Given the description of an element on the screen output the (x, y) to click on. 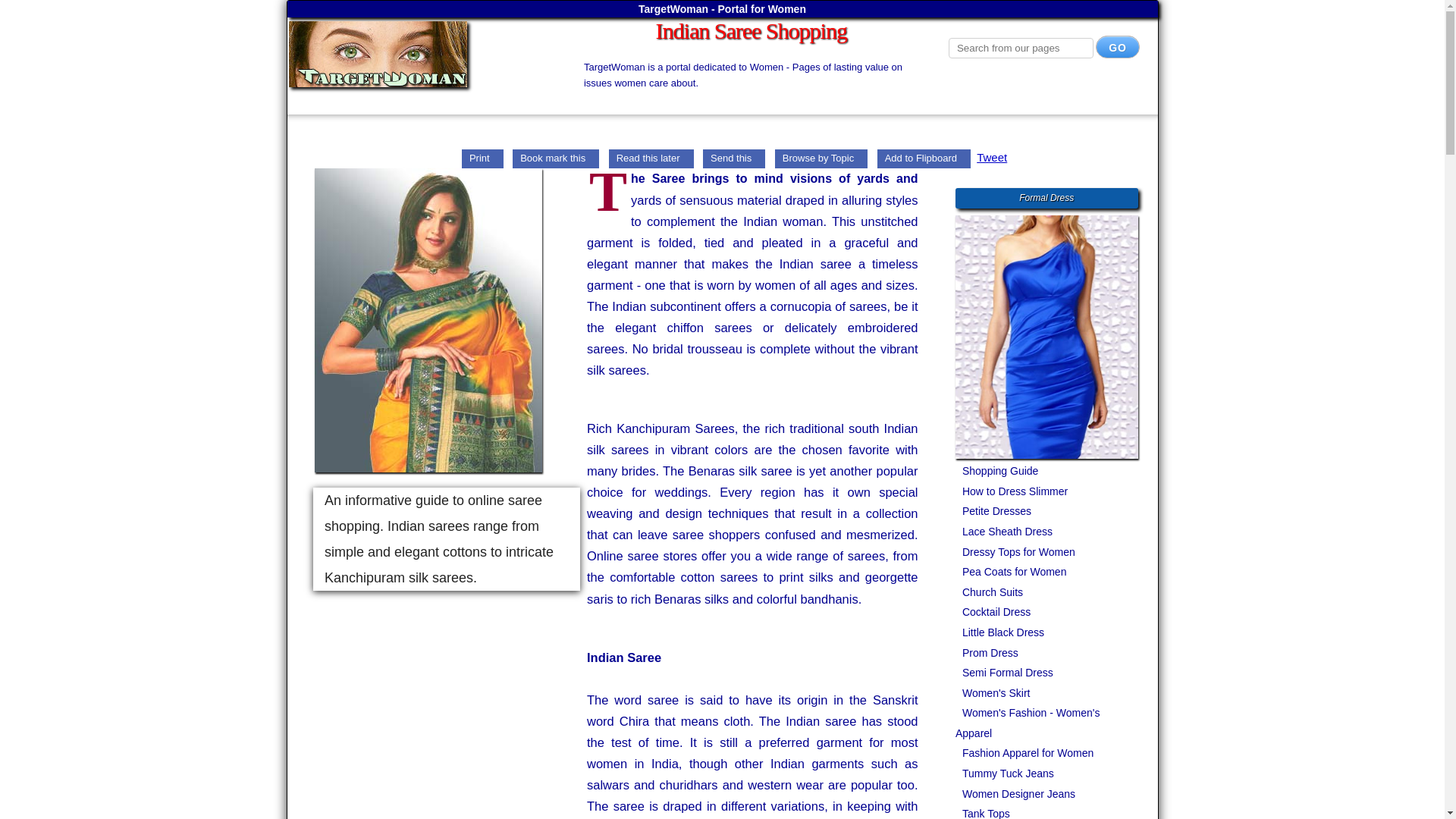
Book mark this (555, 156)
Send this (734, 156)
Cocktail Dress (993, 612)
Dressy Tops for Women (1016, 551)
Go (1118, 47)
Add to Flipboard (924, 156)
Browse by Topic (820, 156)
Church Suits (990, 592)
Prom Dress (987, 653)
Read this later (651, 156)
Dressy Tops for Women (1016, 551)
Lace Sheath Dress (1004, 531)
Little Black Dress (1000, 632)
Women's Skirt (993, 693)
Petite Dresses (994, 510)
